Given the description of an element on the screen output the (x, y) to click on. 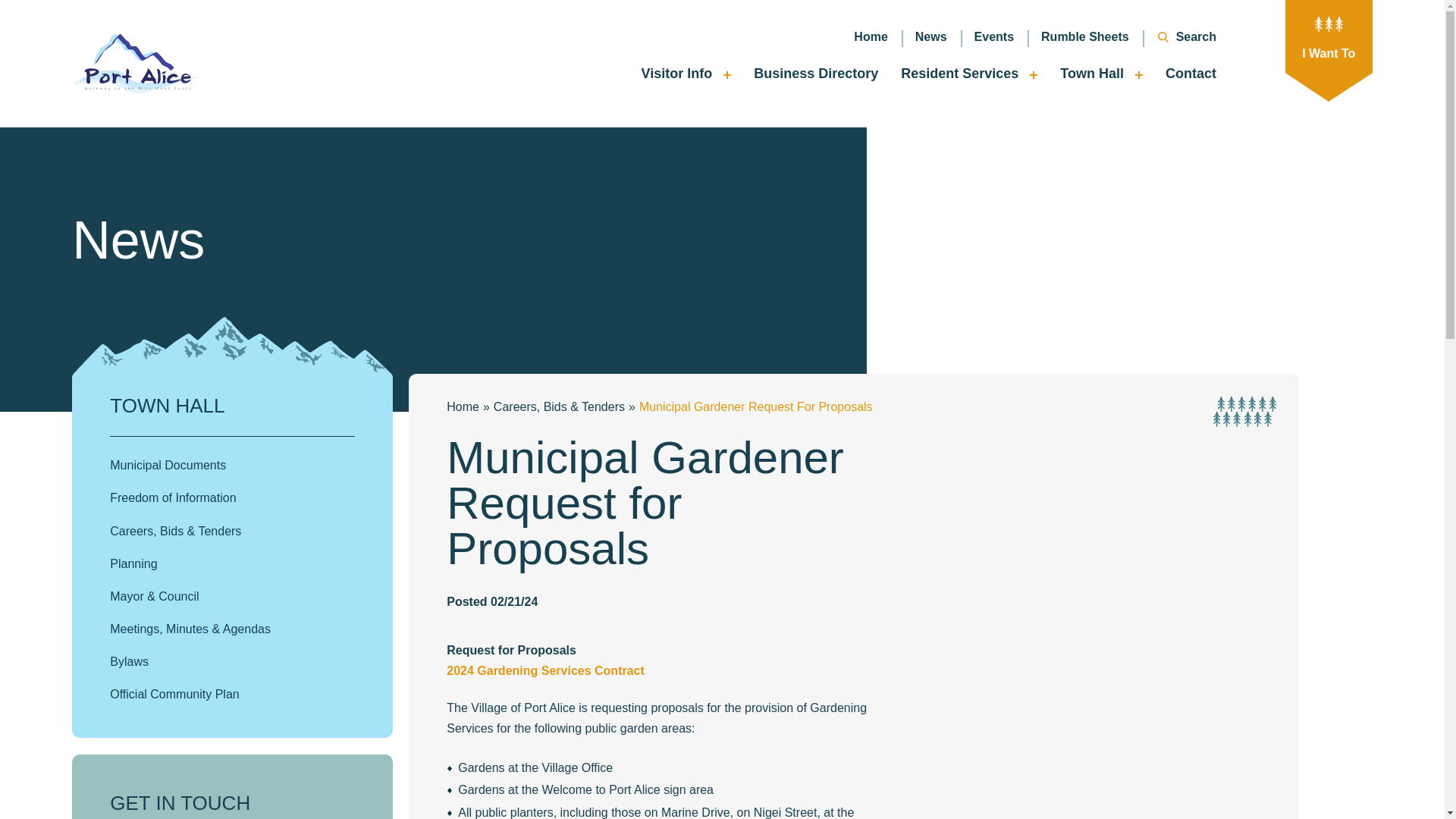
Search (1178, 36)
News (930, 36)
Business Directory (815, 77)
Town Hall (1100, 77)
Home (870, 36)
Rumble Sheets (1084, 36)
Events (993, 36)
Resident Services (968, 77)
Visitor Info (685, 77)
Contact (1190, 77)
